Given the description of an element on the screen output the (x, y) to click on. 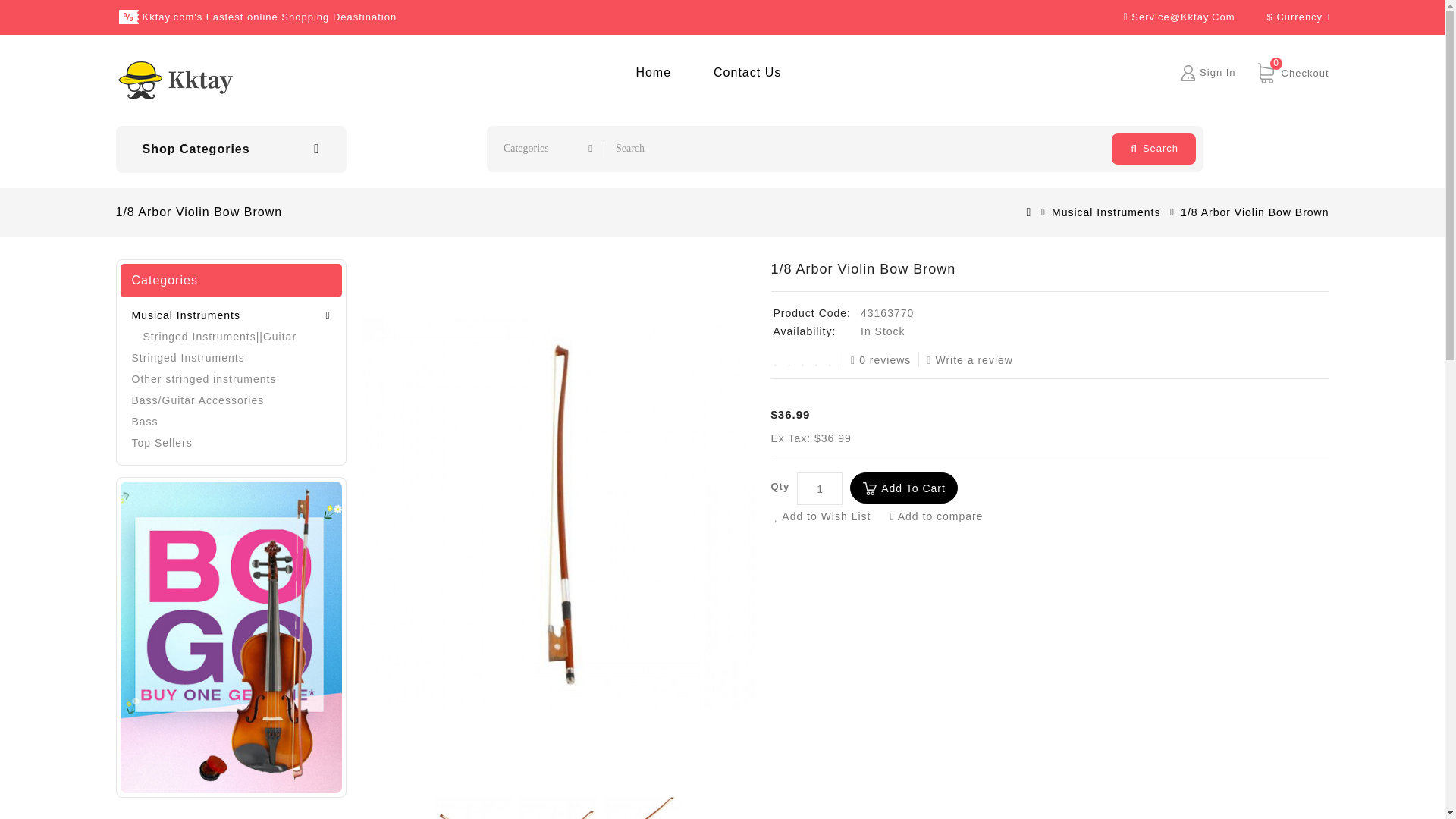
Home (652, 72)
0 reviews (884, 359)
1 (1289, 72)
Sign in (819, 488)
Add to compare (1216, 71)
Search (941, 516)
Add to compare (1153, 148)
Add to Wish List (941, 516)
Add to Wish List (828, 516)
Sign In (828, 516)
home (1216, 71)
Add To Cart (652, 72)
Bass (904, 487)
Top Sellers (231, 421)
